Given the description of an element on the screen output the (x, y) to click on. 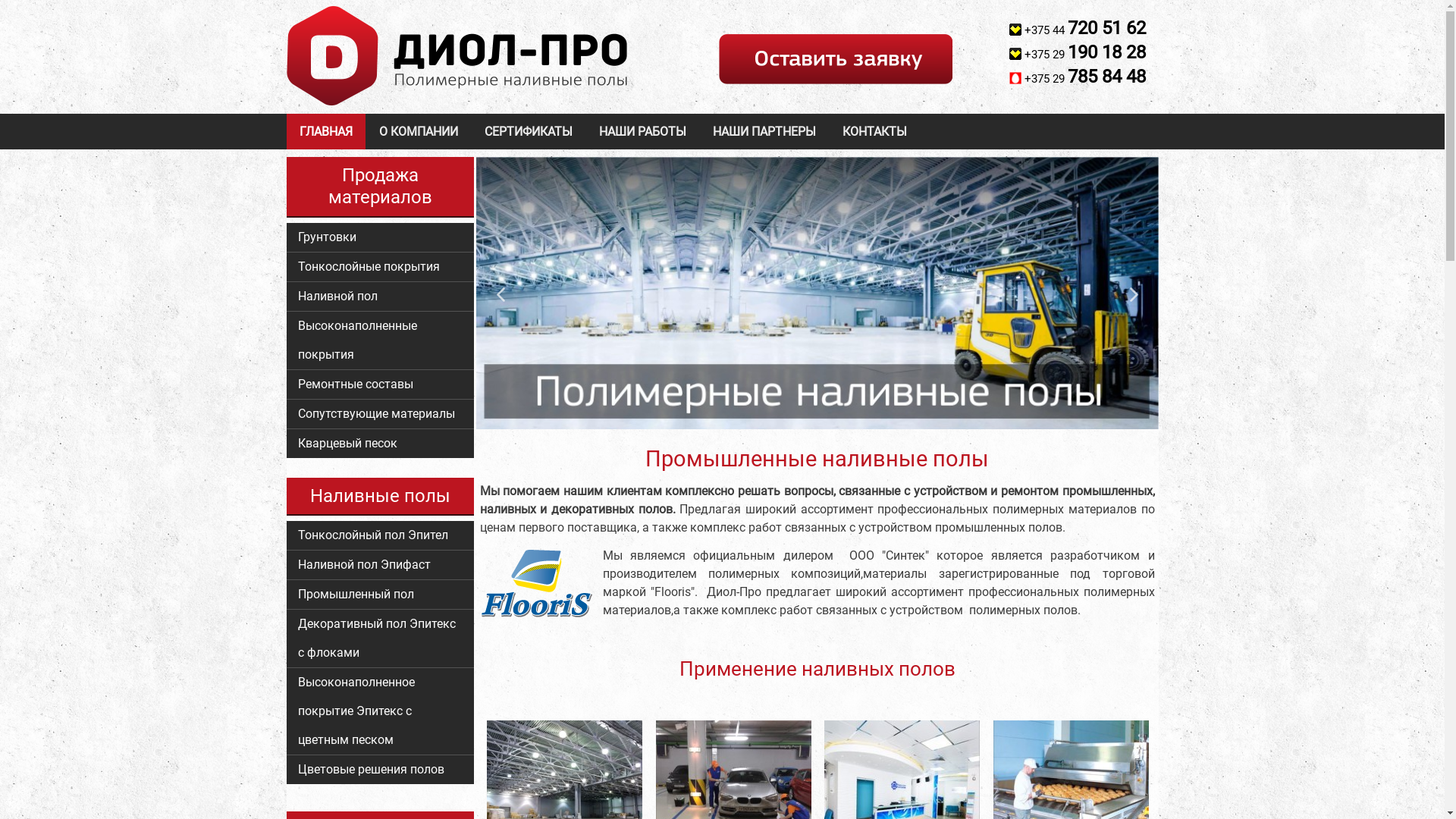
Previous Element type: text (500, 294)
Next Element type: text (1132, 294)
